Given the description of an element on the screen output the (x, y) to click on. 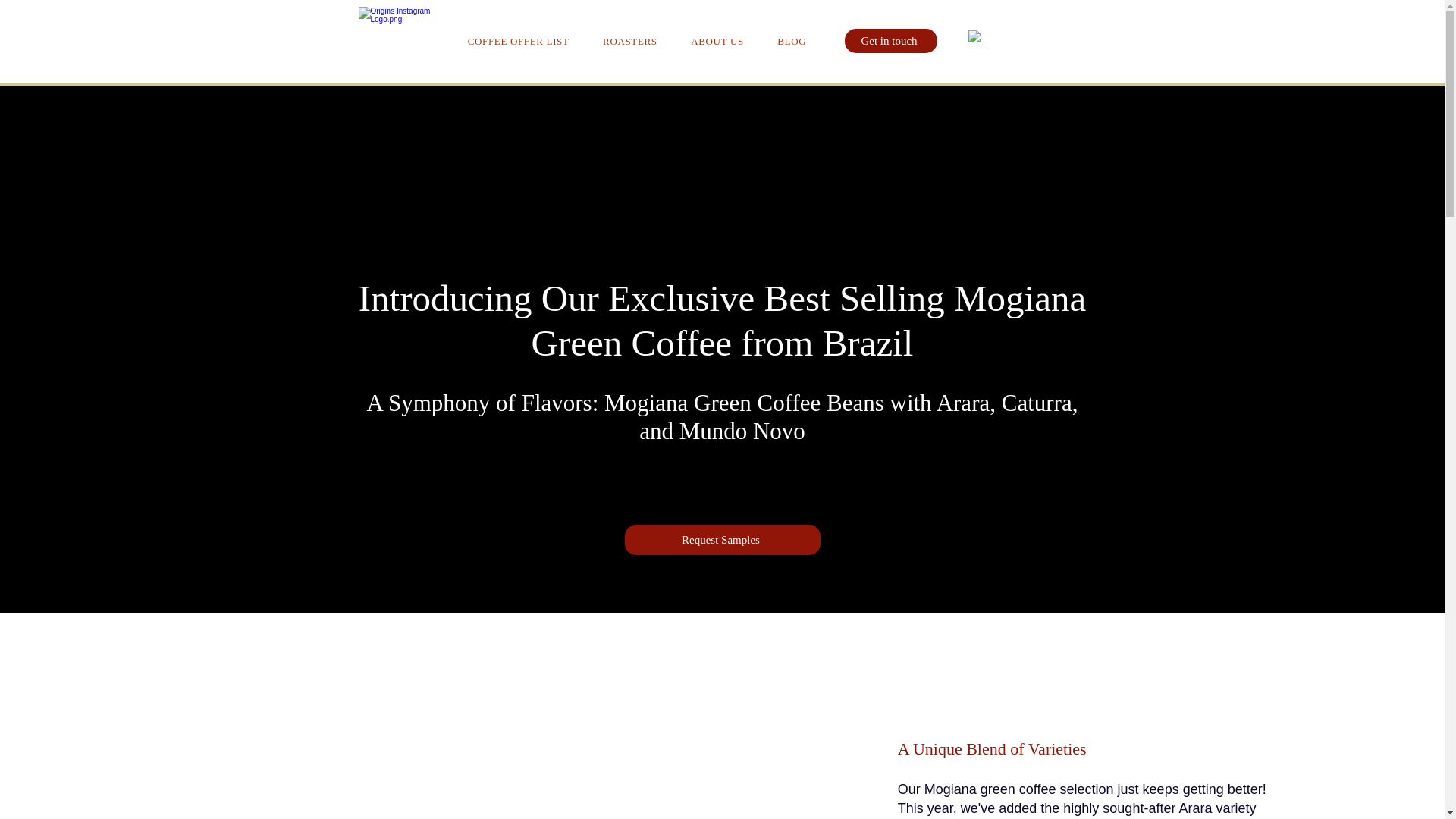
BLOG (790, 41)
COFFEE OFFER LIST (517, 41)
ROASTERS (630, 41)
Request Samples (722, 539)
Get in touch (890, 40)
ABOUT US (717, 41)
